Given the description of an element on the screen output the (x, y) to click on. 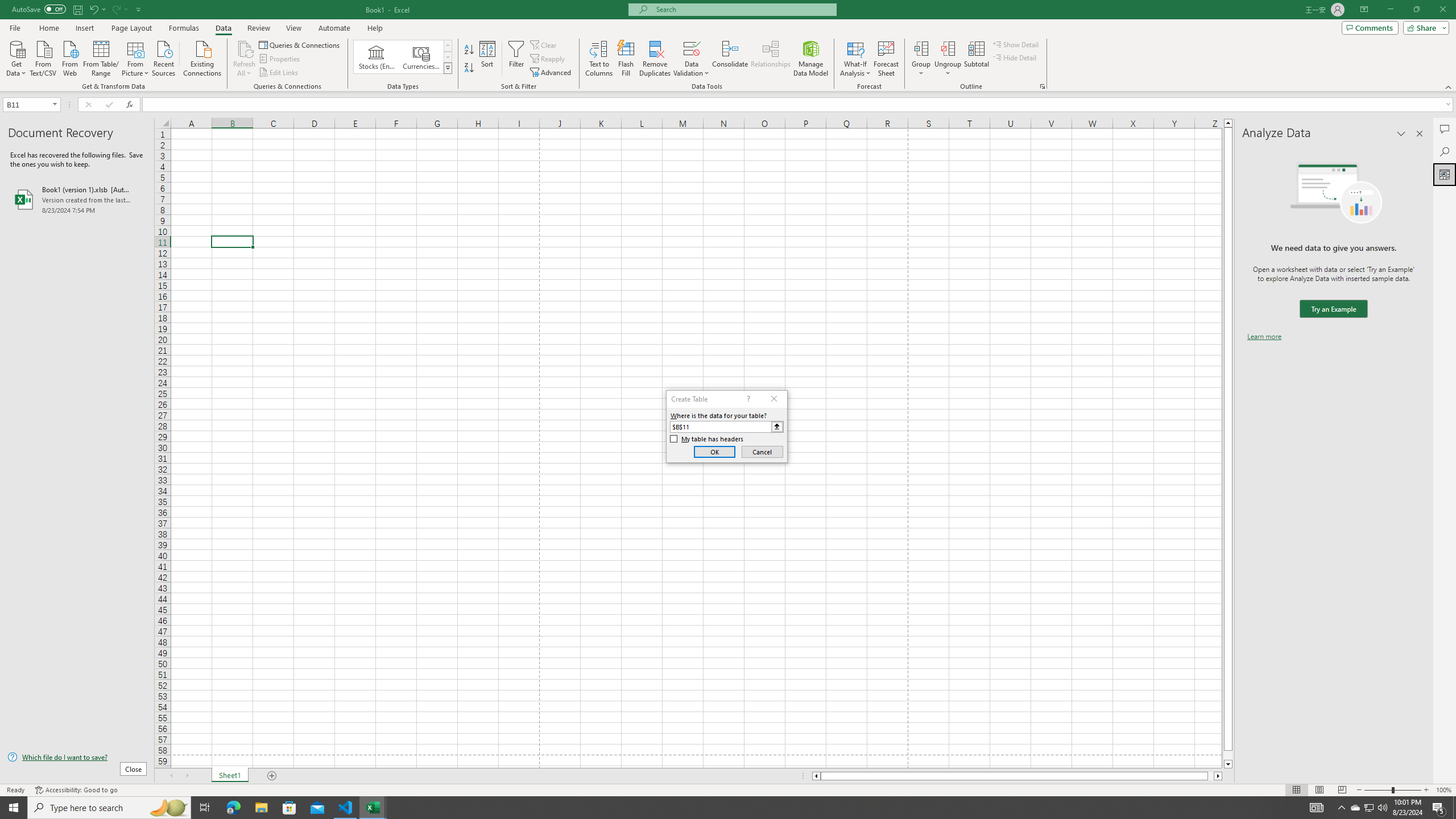
Reapply (548, 58)
Subtotal (976, 58)
Existing Connections (202, 57)
What-If Analysis (855, 58)
